Given the description of an element on the screen output the (x, y) to click on. 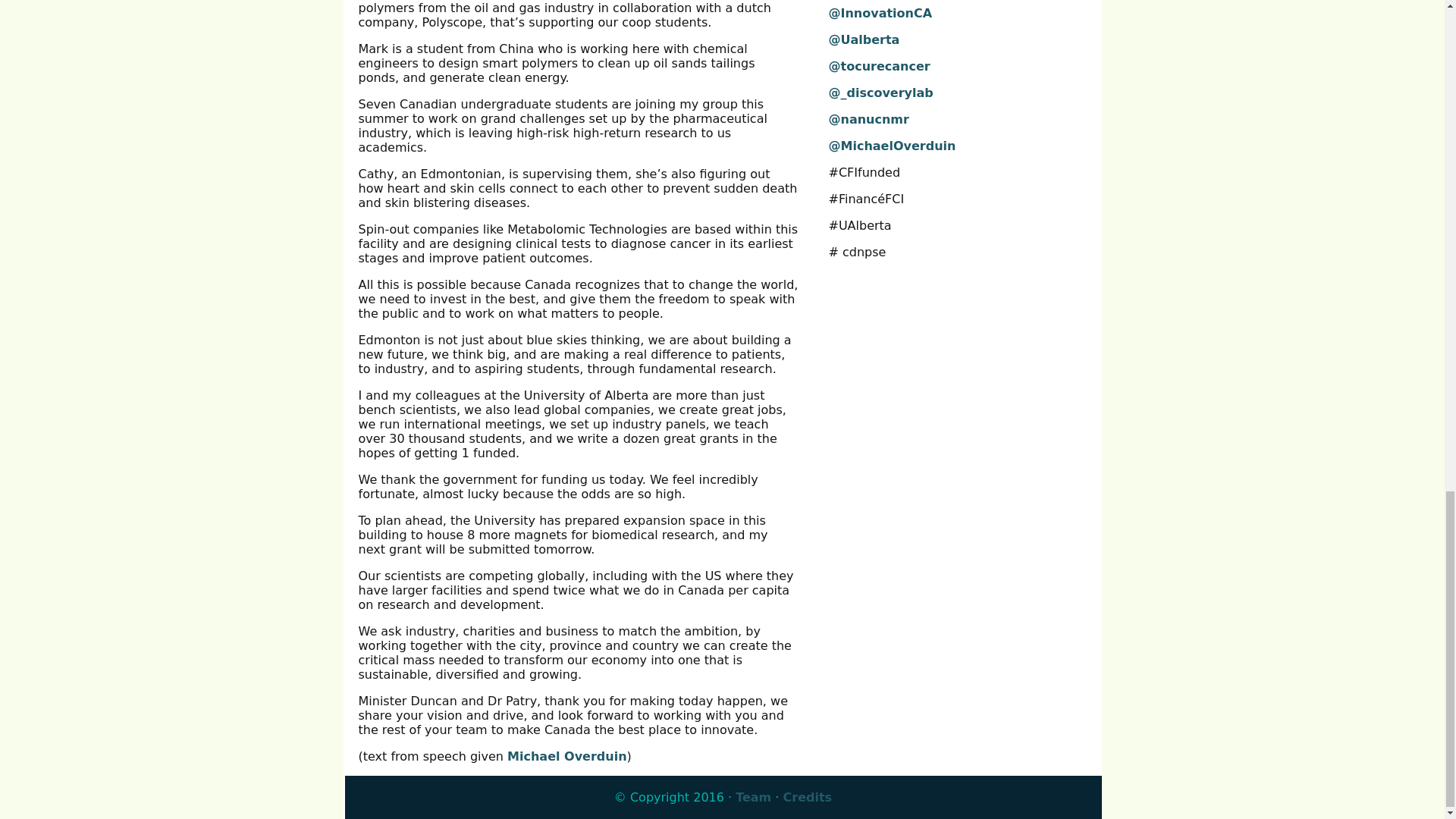
Credits (807, 797)
Michael Overduin (566, 756)
Team (753, 797)
